Given the description of an element on the screen output the (x, y) to click on. 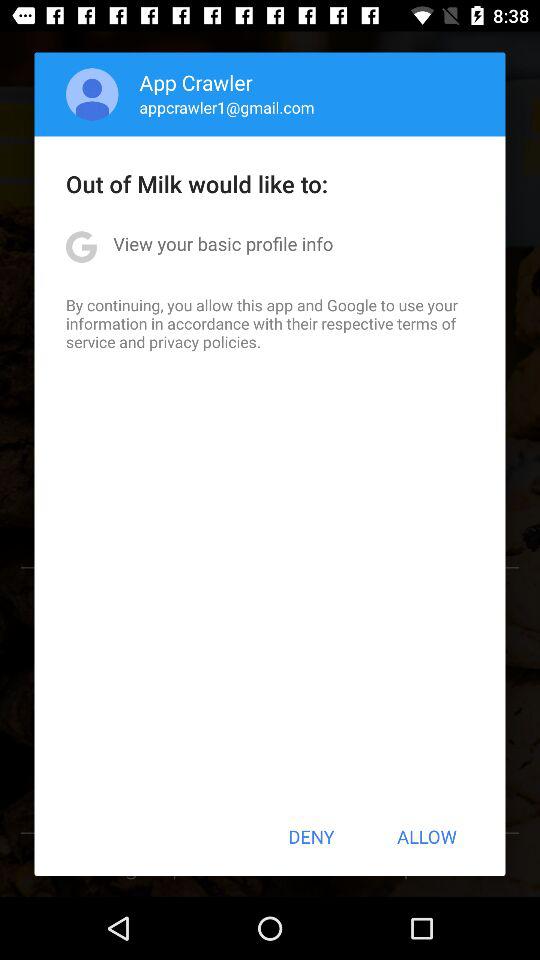
click app crawler (195, 82)
